Given the description of an element on the screen output the (x, y) to click on. 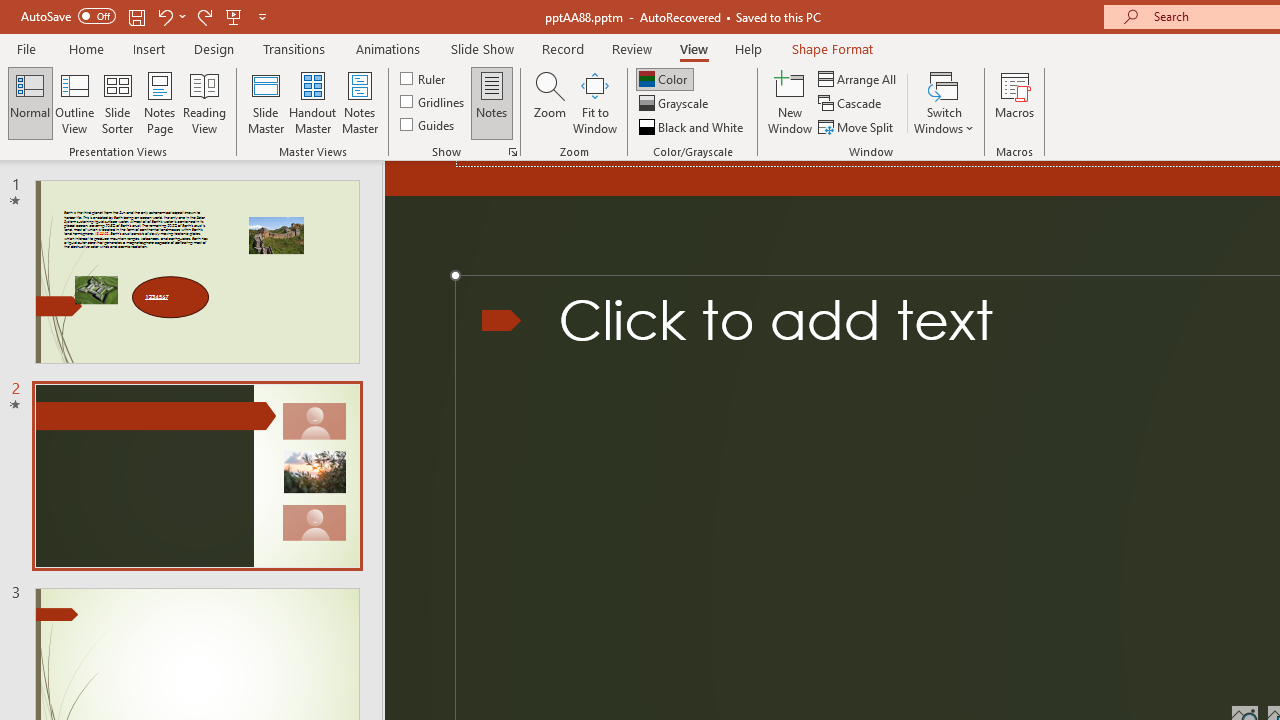
Notes Page (159, 102)
Notes (492, 102)
Handout Master (312, 102)
Move Split (857, 126)
Ruler (423, 78)
